Given the description of an element on the screen output the (x, y) to click on. 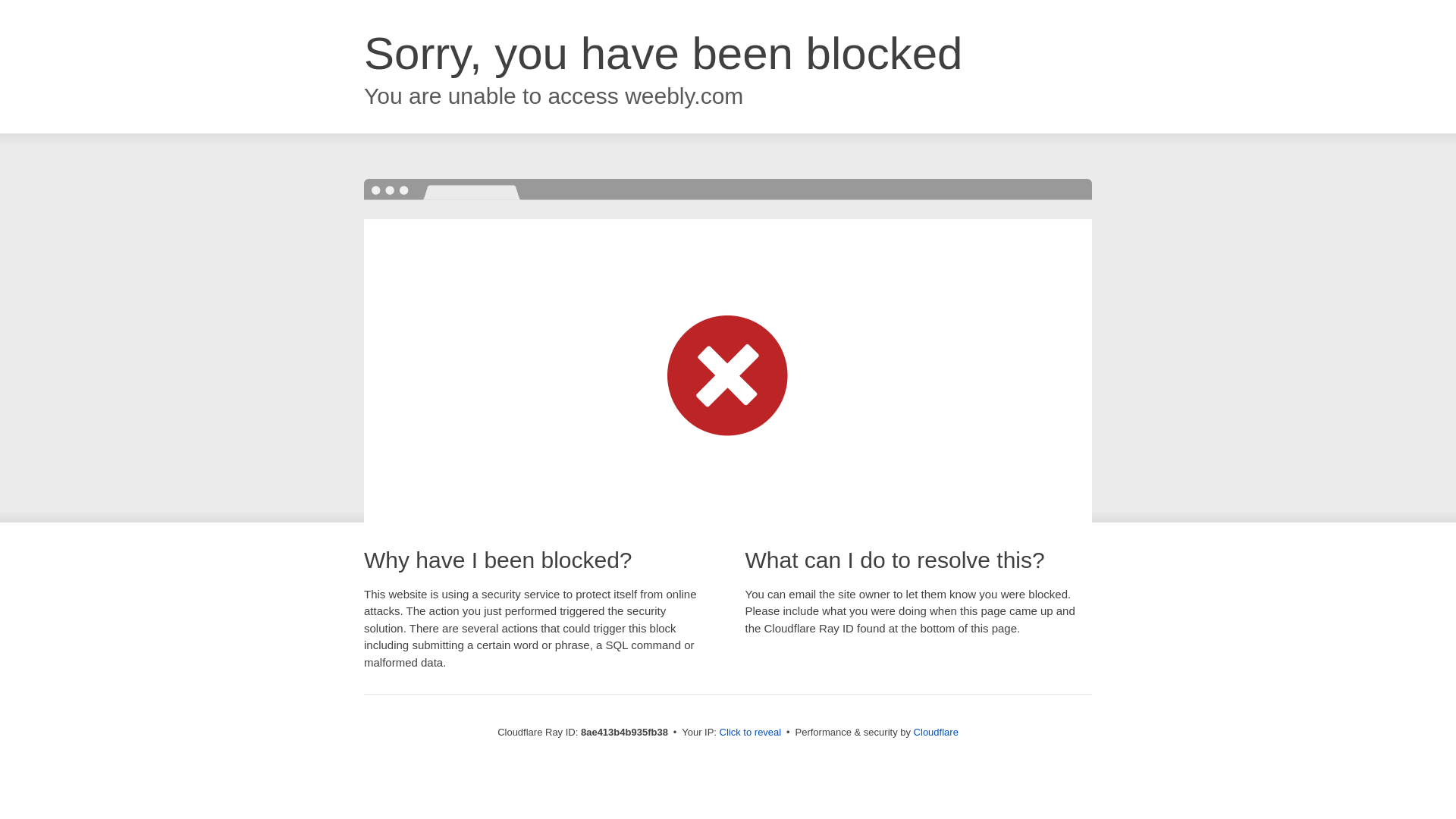
Cloudflare (936, 731)
Click to reveal (750, 732)
